Given the description of an element on the screen output the (x, y) to click on. 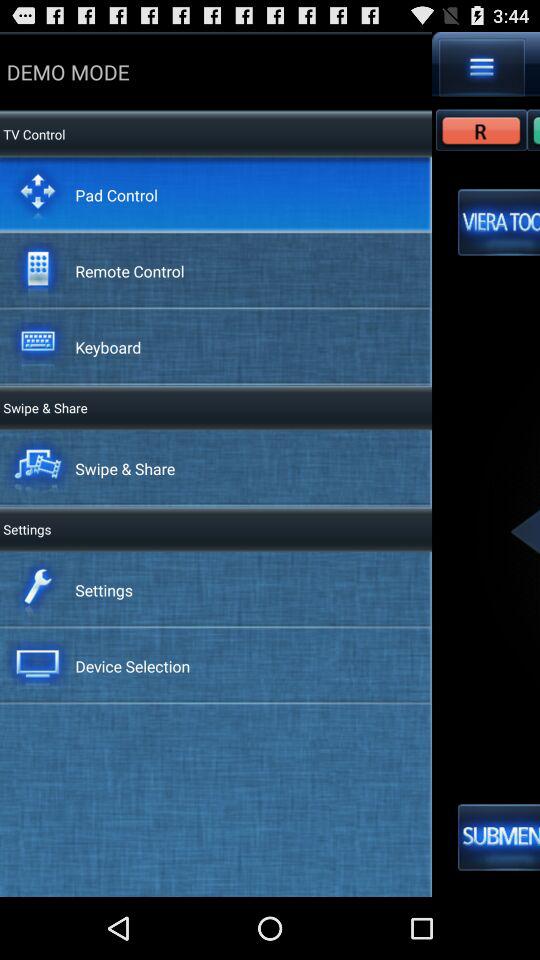
open the pad control app (116, 194)
